Given the description of an element on the screen output the (x, y) to click on. 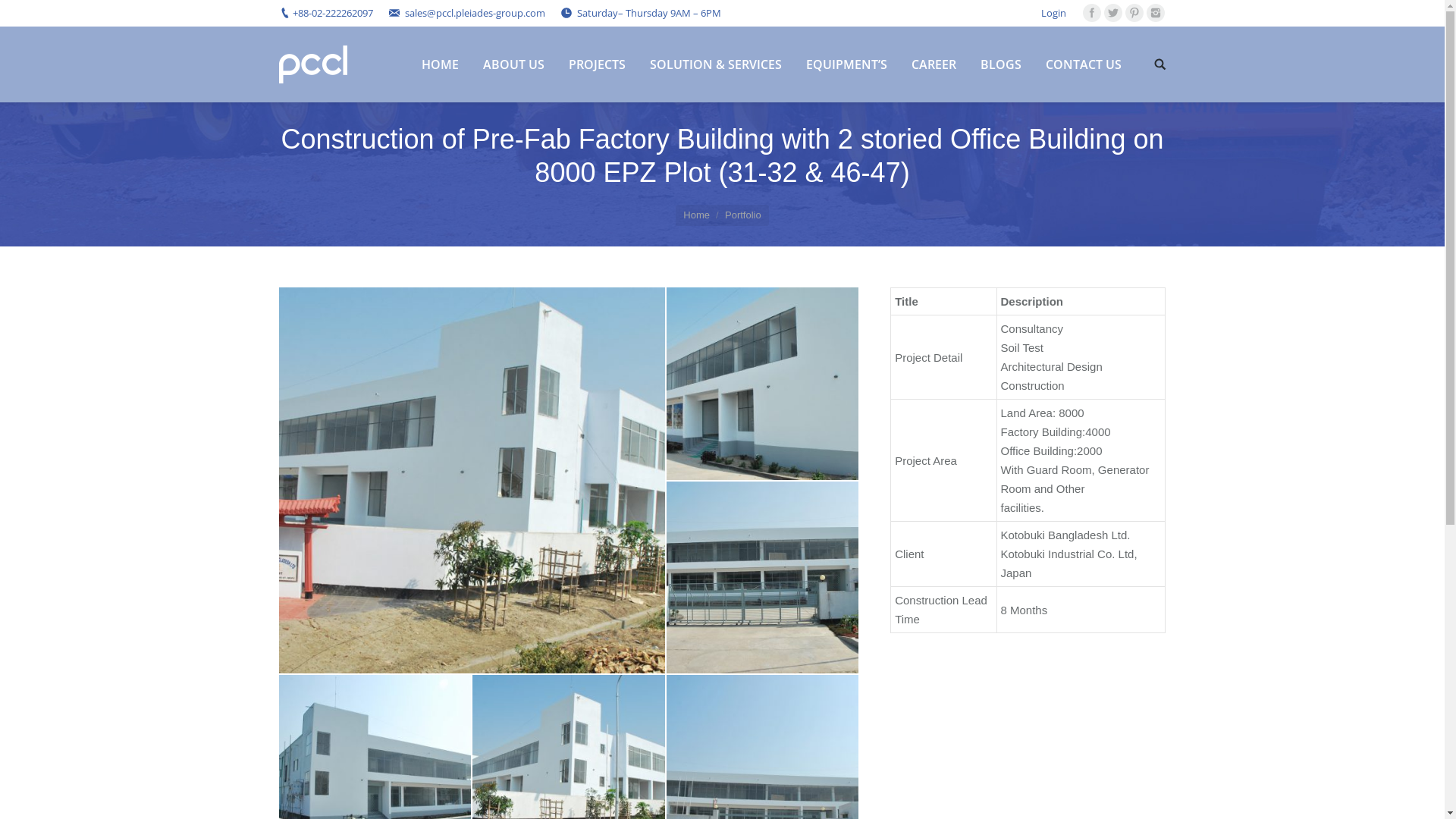
Twitter Element type: hover (1113, 12)
Kotobuki-02 Element type: hover (762, 383)
HOME Element type: text (439, 64)
Kotobuki-02 Element type: hover (763, 384)
Kotobuki-01 Element type: hover (472, 480)
CAREER Element type: text (933, 64)
Portfolio Element type: text (742, 214)
SOLUTION & SERVICES Element type: text (715, 64)
BLOGS Element type: text (999, 64)
ABOUT US Element type: text (512, 64)
Pinterest Element type: hover (1134, 12)
  Element type: text (1160, 64)
Instagram Element type: hover (1155, 12)
Go! Element type: text (19, 15)
Login Element type: text (1052, 12)
Kotobuki-01 Element type: hover (472, 480)
CONTACT US Element type: text (1082, 64)
Kotobuki-03 Element type: hover (762, 577)
Facebook Element type: hover (1091, 12)
PROJECTS Element type: text (596, 64)
Home Element type: text (696, 214)
Kotobuki-03 Element type: hover (763, 578)
